Given the description of an element on the screen output the (x, y) to click on. 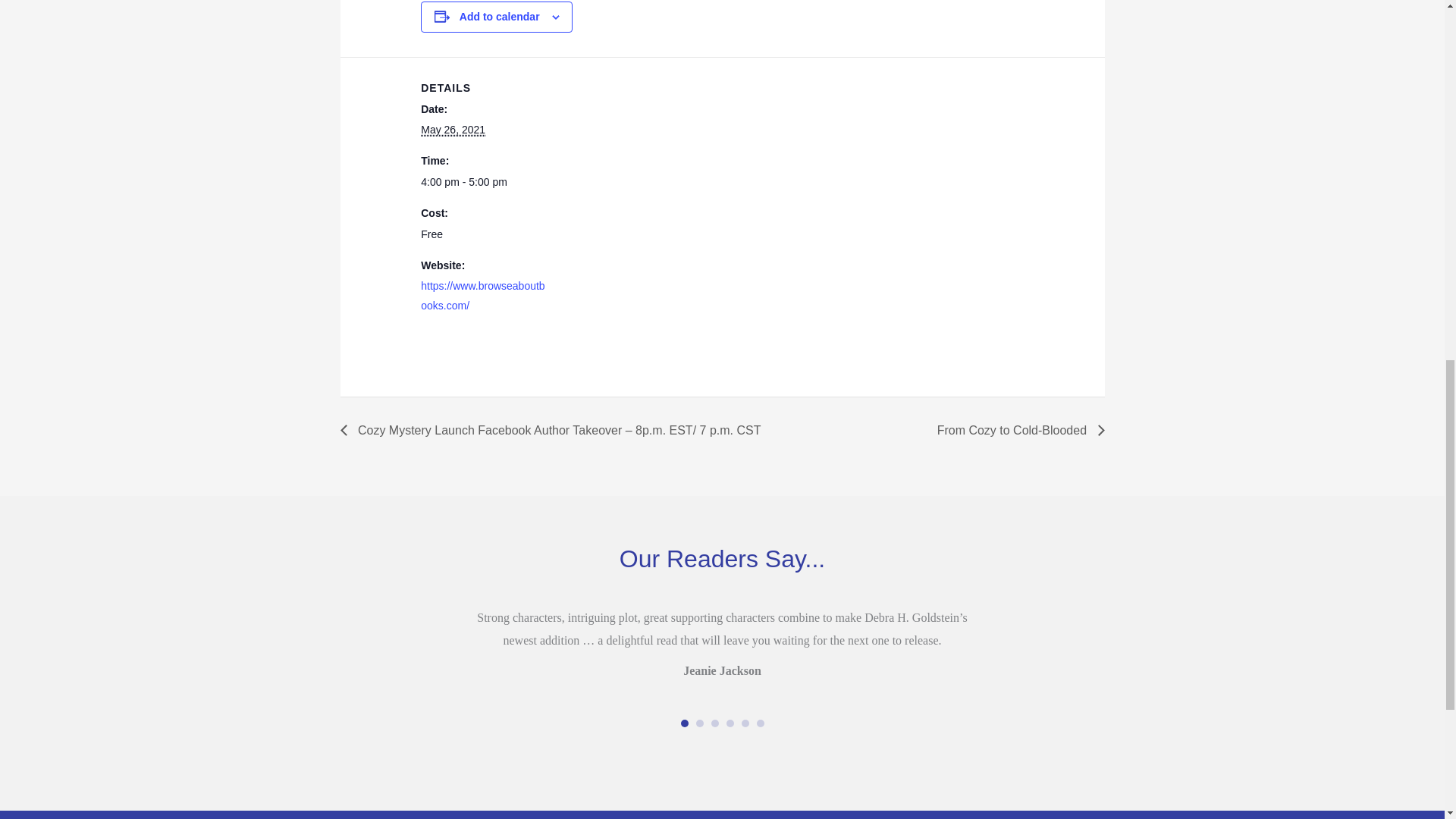
Add to calendar (500, 16)
2021-05-26 (484, 182)
1 (684, 723)
2021-05-26 (452, 129)
From Cozy to Cold-Blooded (1016, 430)
